Given the description of an element on the screen output the (x, y) to click on. 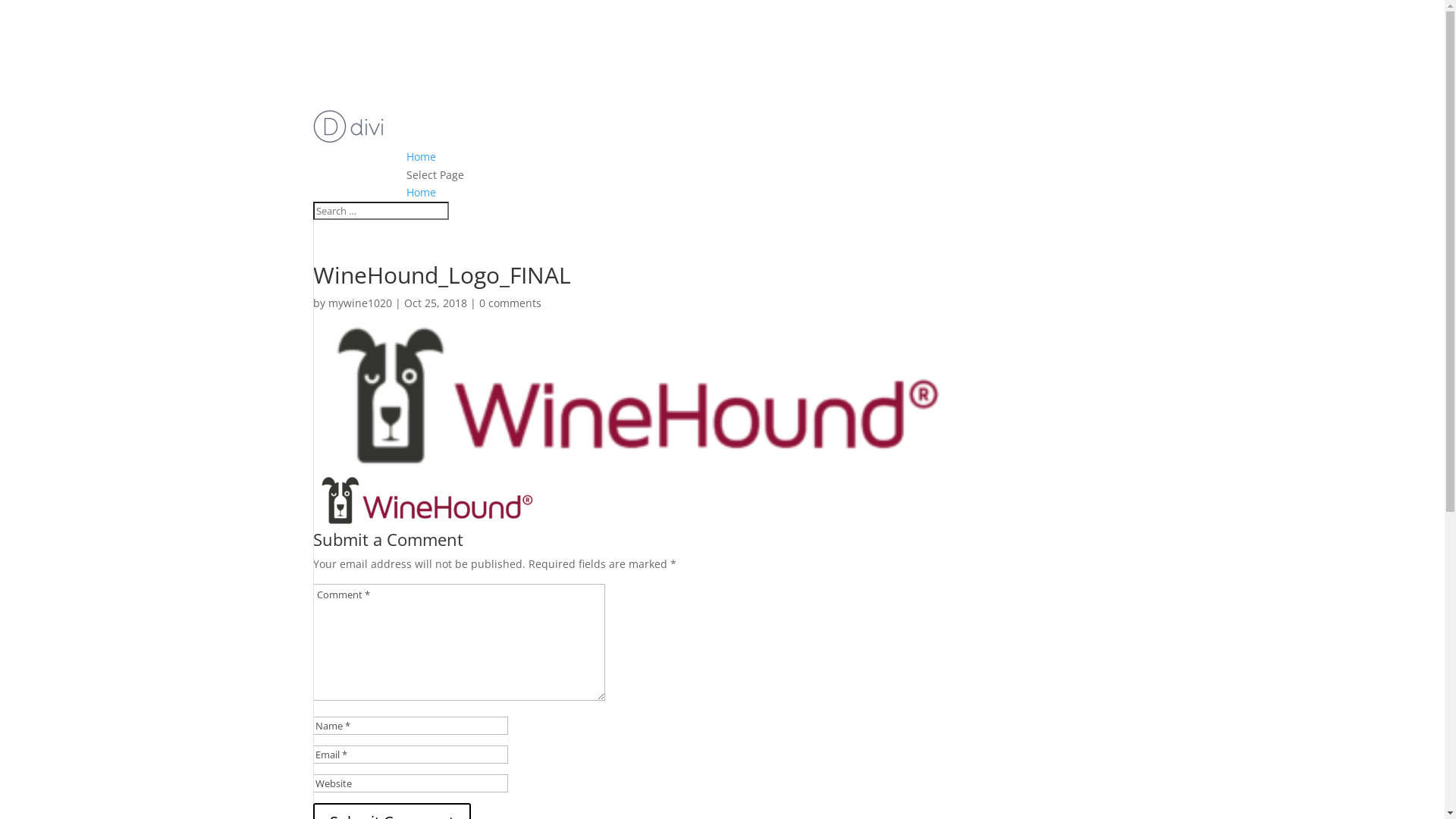
Home Element type: text (421, 156)
Search for: Element type: hover (380, 210)
Home Element type: text (421, 192)
mywine1020 Element type: text (359, 302)
0 comments Element type: text (510, 302)
